Given the description of an element on the screen output the (x, y) to click on. 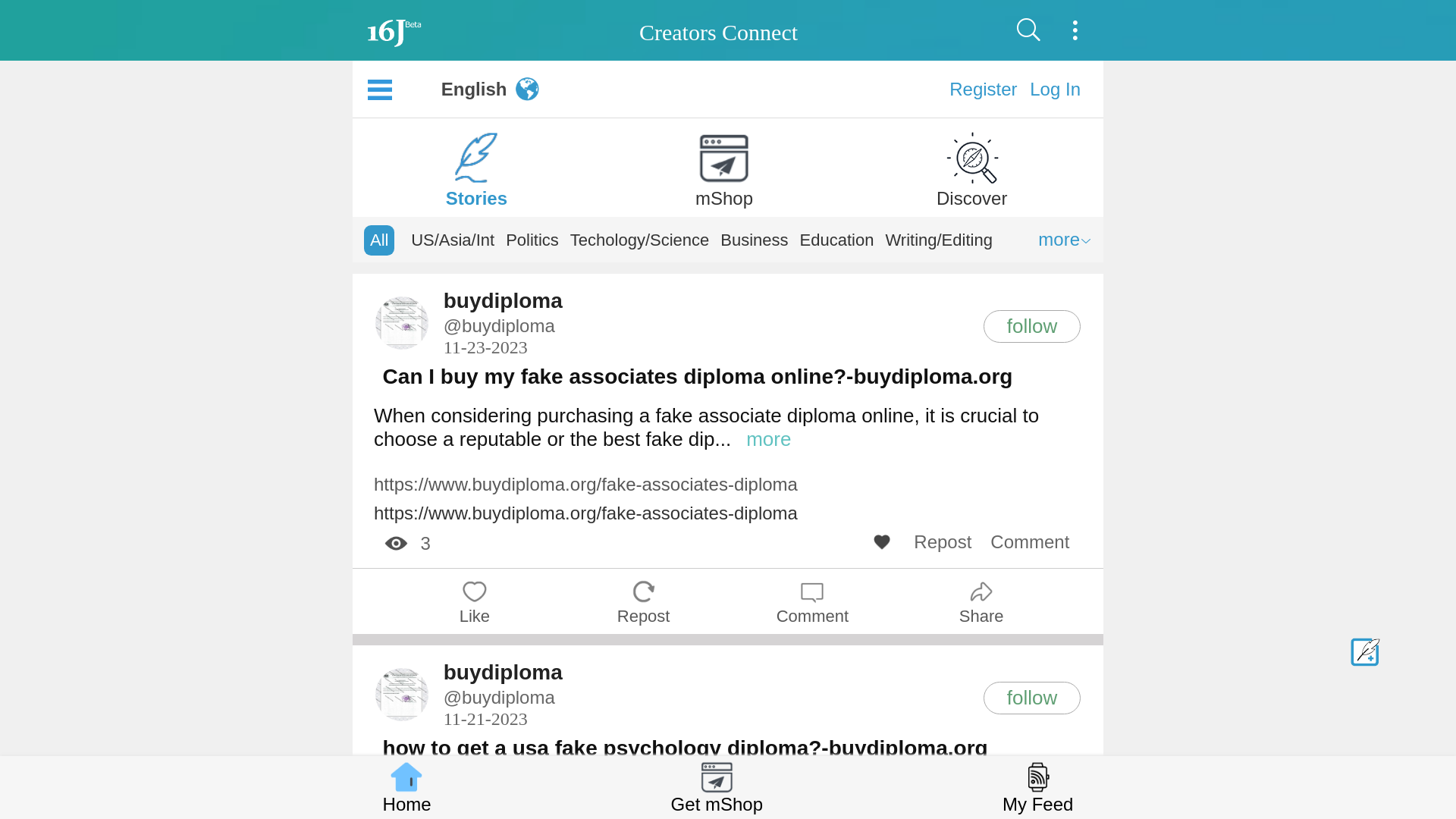
Techology/Science Element type: text (639, 240)
US/Asia/Int Element type: text (452, 240)
Log In Element type: text (1054, 89)
My Feed Element type: text (1037, 787)
buydiploma
@buydiploma Element type: text (502, 683)
Can I buy my fake associates diploma online?-buydiploma.org Element type: text (697, 376)
follow Element type: text (1031, 325)
3 Element type: text (406, 544)
how to get a usa fake psychology diploma?-buydiploma.org Element type: text (685, 748)
buydiploma
@buydiploma Element type: text (502, 312)
https://www.buydiploma.org/fake-associates-diploma Element type: text (585, 484)
Get mShop Element type: text (716, 787)
Discover Element type: text (971, 164)
Politics Element type: text (531, 240)
Business Element type: text (753, 240)
Repost Element type: text (643, 601)
Stories Element type: text (476, 164)
Home Element type: text (406, 787)
English Element type: text (474, 89)
Share Element type: text (981, 601)
more Element type: text (1065, 239)
Like Element type: text (474, 601)
more Element type: text (768, 439)
mShop Element type: text (724, 164)
All Element type: text (379, 240)
Education Element type: text (837, 240)
Register Element type: text (982, 89)
Comment Element type: text (1031, 541)
Comment Element type: text (812, 601)
Repost Element type: text (944, 541)
Writing/Editing Element type: text (937, 240)
follow Element type: text (1031, 696)
